Given the description of an element on the screen output the (x, y) to click on. 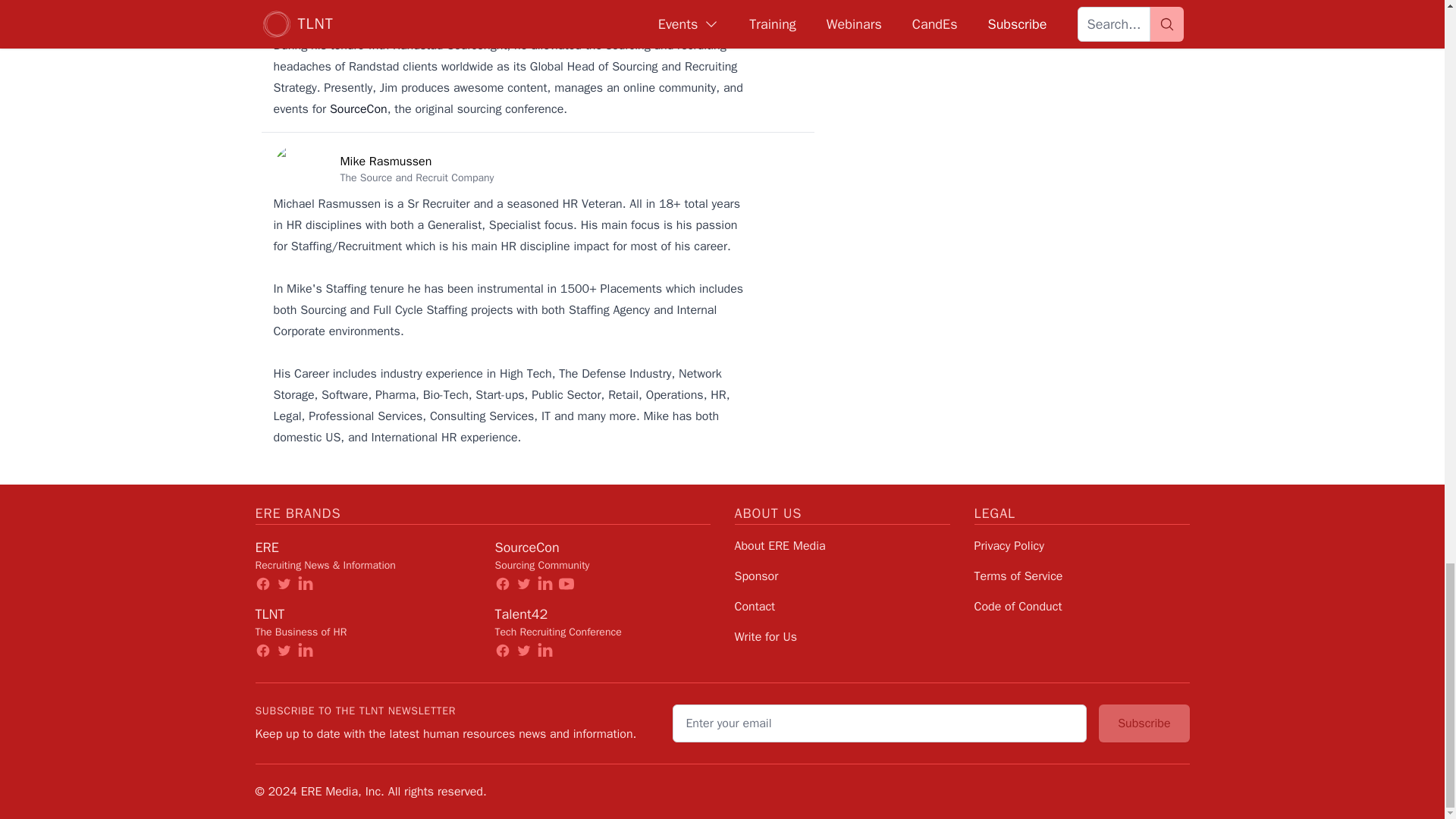
twitter (523, 583)
twitter (523, 650)
Talent42 (521, 614)
Contact (753, 606)
About ERE Media (779, 545)
Sponsor (755, 575)
facebook (502, 583)
Privacy Policy (1008, 545)
linkedin (305, 650)
facebook (502, 650)
twitter (283, 583)
Terms of Service (1018, 575)
linkedin (544, 583)
linkedin (305, 583)
facebook (261, 650)
